Given the description of an element on the screen output the (x, y) to click on. 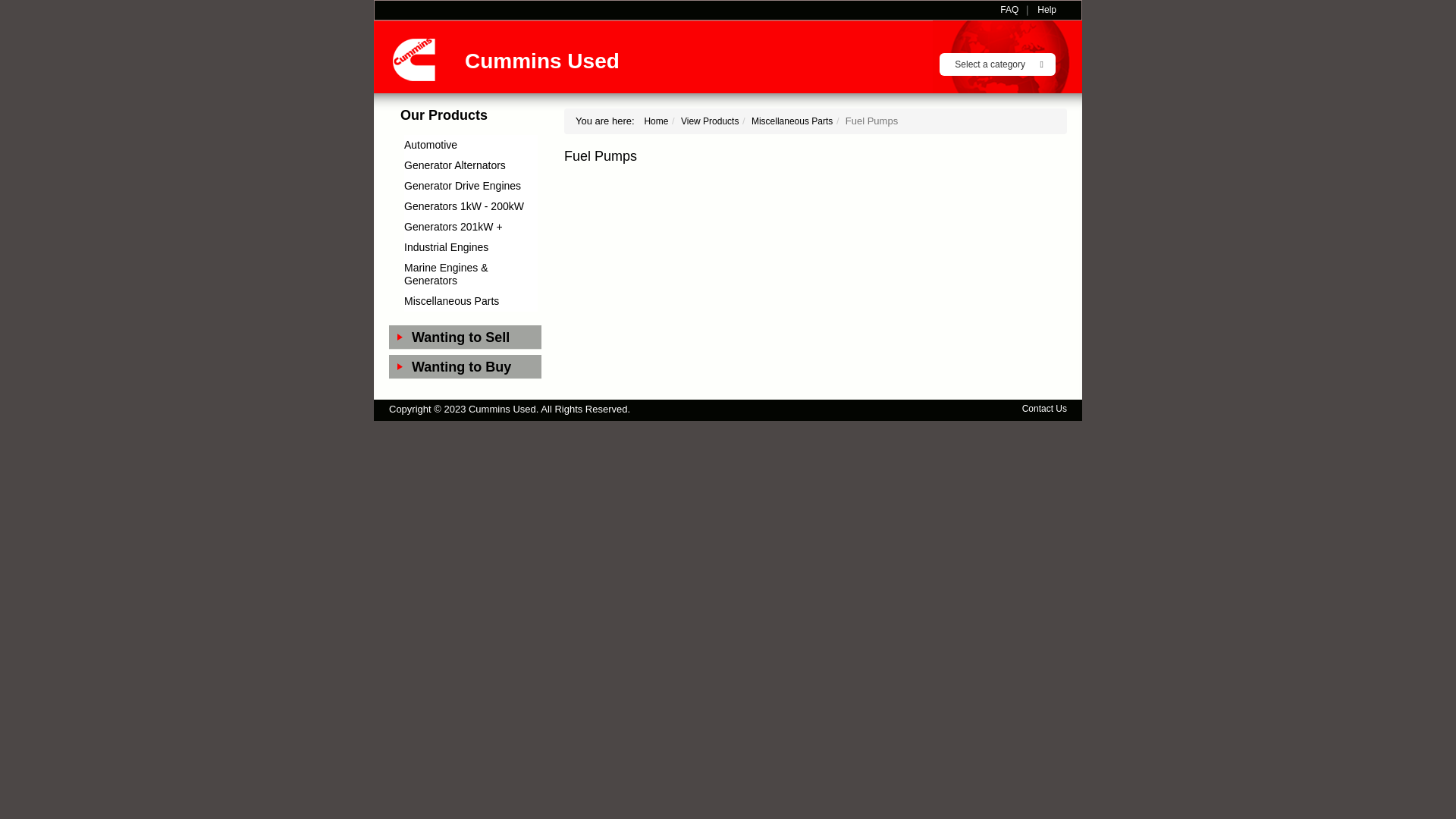
Generators 1kW - 200kW Element type: text (464, 206)
Generators 201kW + Element type: text (453, 226)
Industrial Engines Element type: text (446, 247)
Home Element type: text (655, 121)
Automotive Element type: text (430, 144)
Wanting to Sell Element type: text (476, 336)
Miscellaneous Parts Element type: text (791, 121)
Contact Us Element type: text (1044, 408)
Select a category Element type: text (997, 64)
View Products Element type: text (709, 121)
Generator Alternators Element type: text (454, 165)
FAQ Element type: text (1009, 9)
Marine Engines & Generators Element type: text (446, 273)
Generator Drive Engines Element type: text (462, 185)
Help Element type: text (1046, 9)
Wanting to Buy Element type: text (476, 365)
Miscellaneous Parts Element type: text (451, 300)
